Given the description of an element on the screen output the (x, y) to click on. 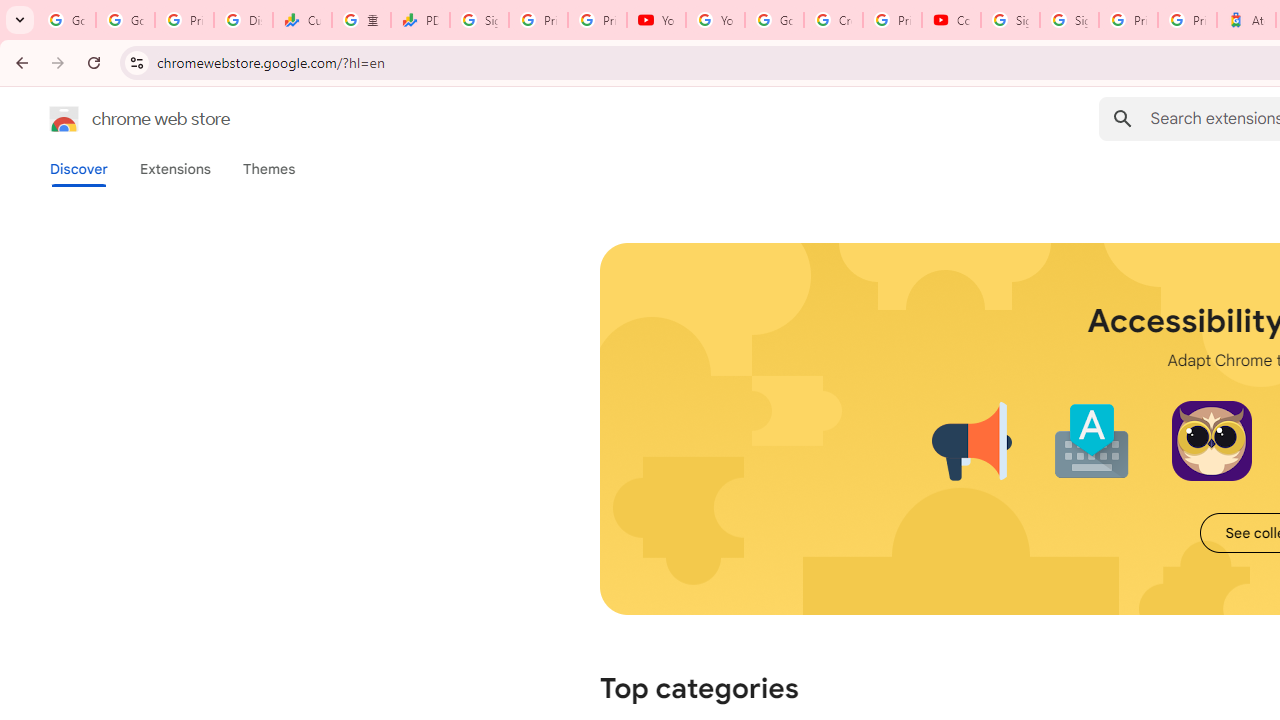
YouTube (656, 20)
